Given the description of an element on the screen output the (x, y) to click on. 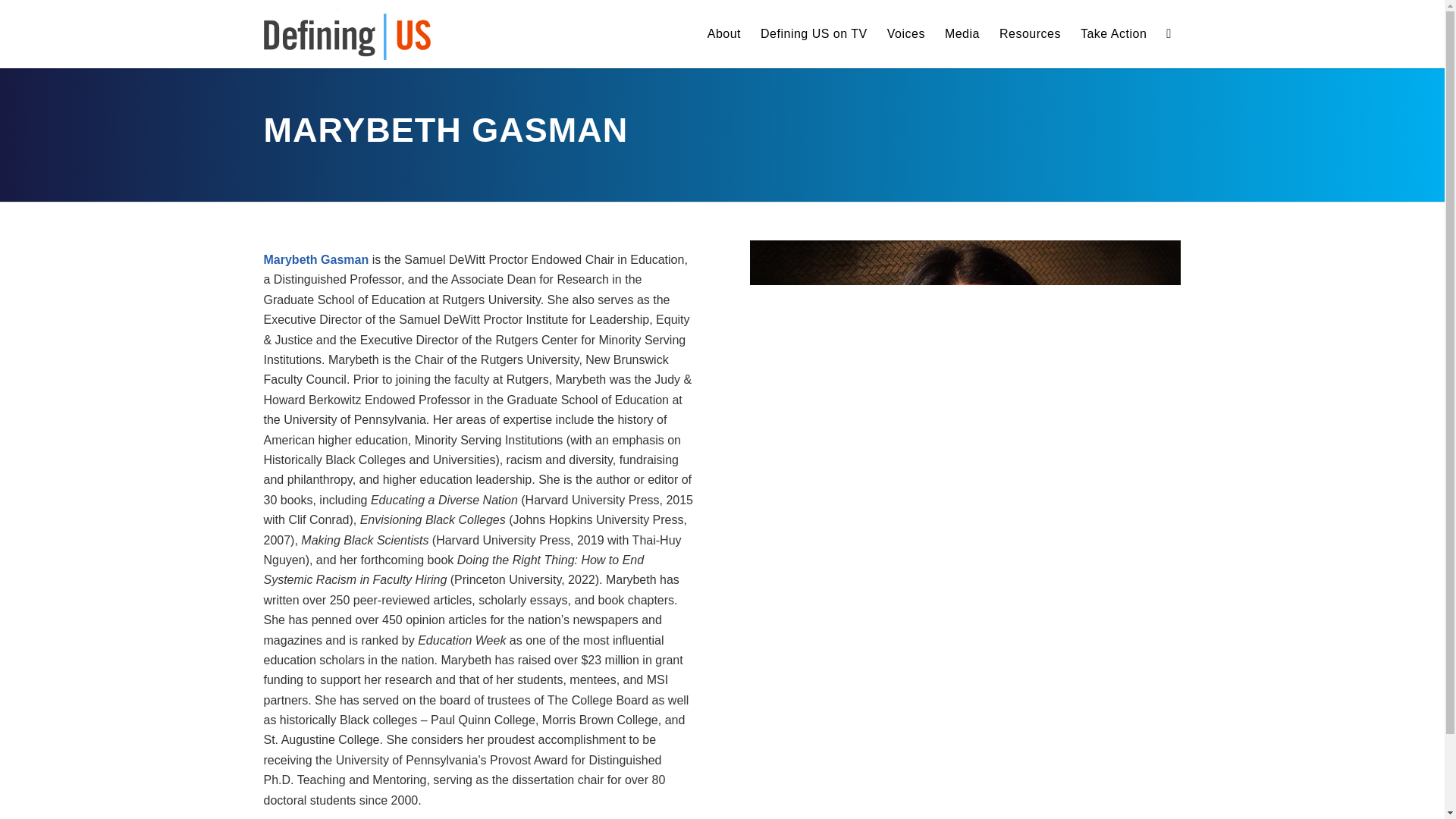
Marybeth (964, 383)
Defining US on TV (814, 33)
Take Action (1113, 33)
DUS Logo blue line tweak for Main Menu 3 (346, 34)
DUS Logo blue line tweak for Main Menu 3 (346, 33)
Resources (1030, 33)
